Given the description of an element on the screen output the (x, y) to click on. 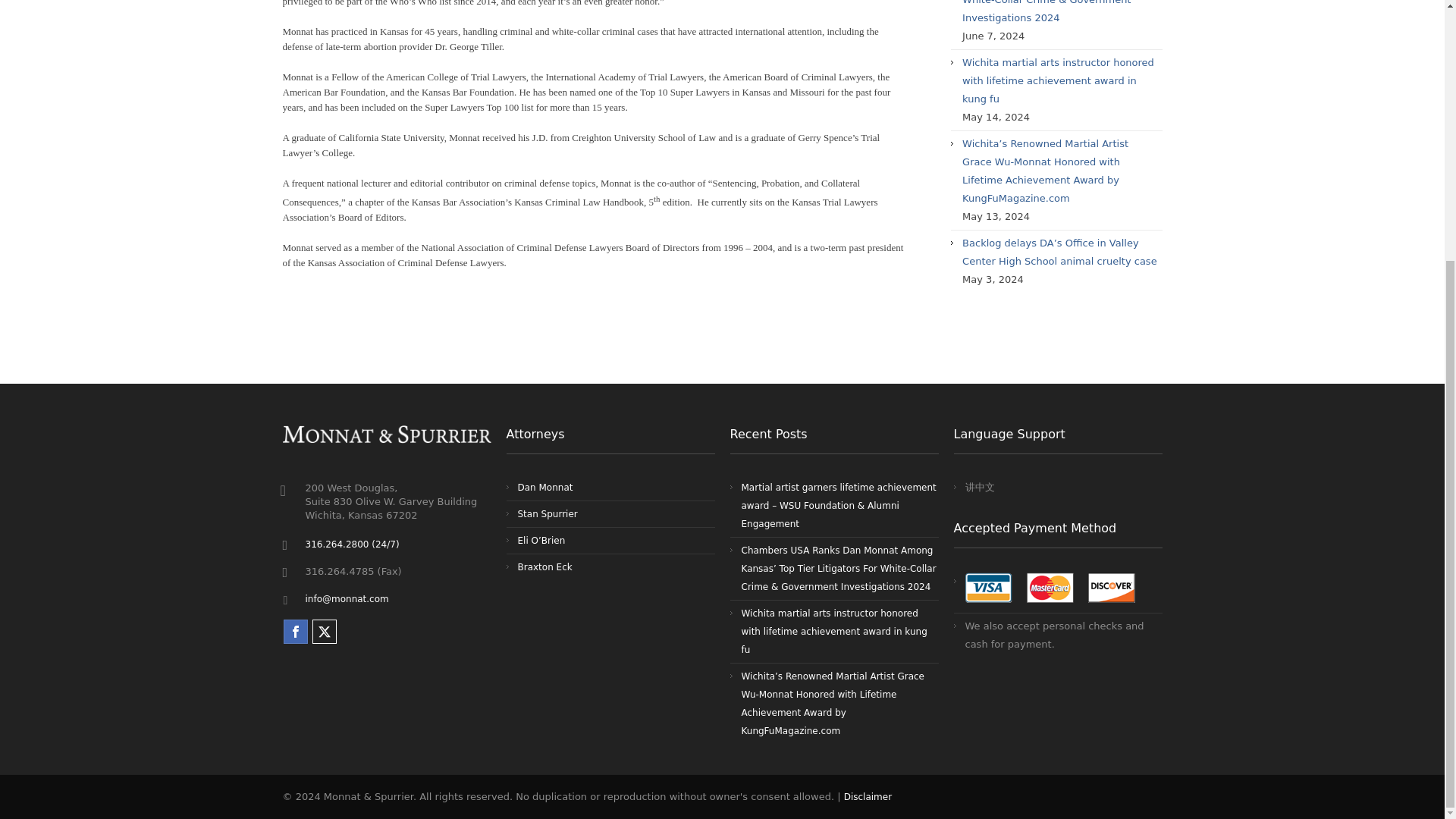
Stan Spurrier (546, 513)
Dan Monnat (544, 487)
